Given the description of an element on the screen output the (x, y) to click on. 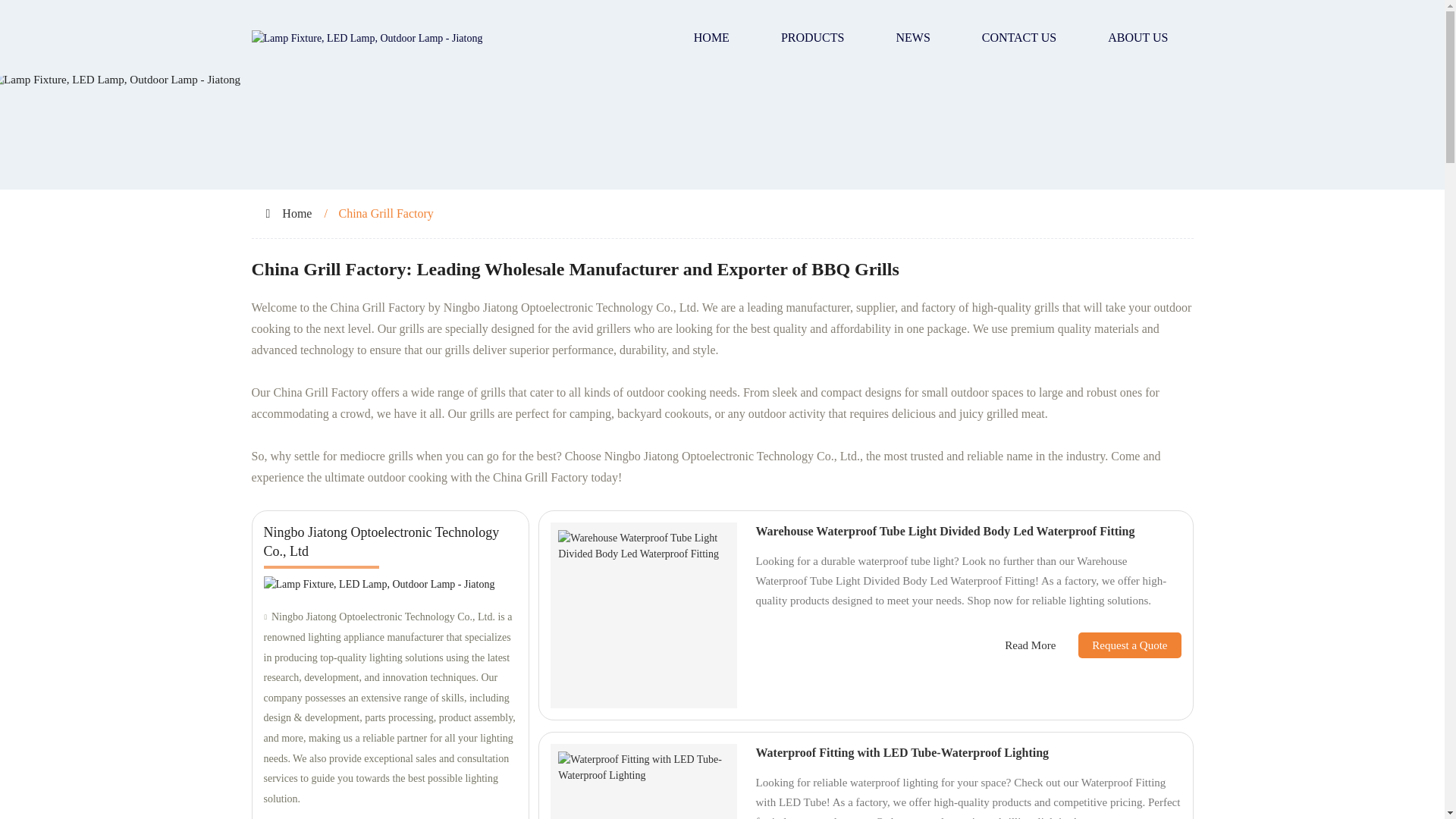
PRODUCTS (812, 38)
Read More (1029, 645)
Request a Quote (1117, 645)
Home (296, 213)
CONTACT US (1018, 38)
